Given the description of an element on the screen output the (x, y) to click on. 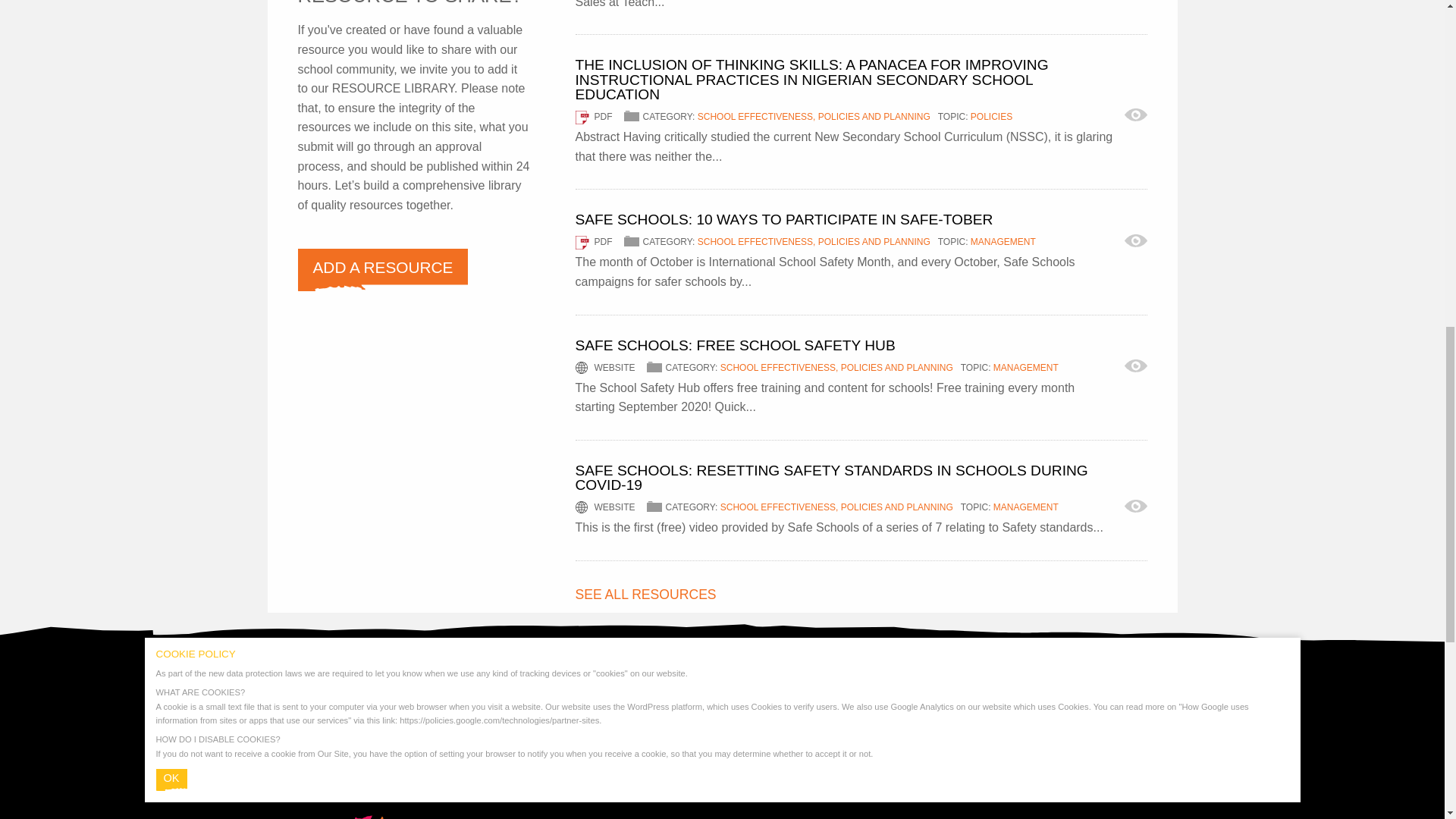
ADD A RESOURCE (382, 269)
